Given the description of an element on the screen output the (x, y) to click on. 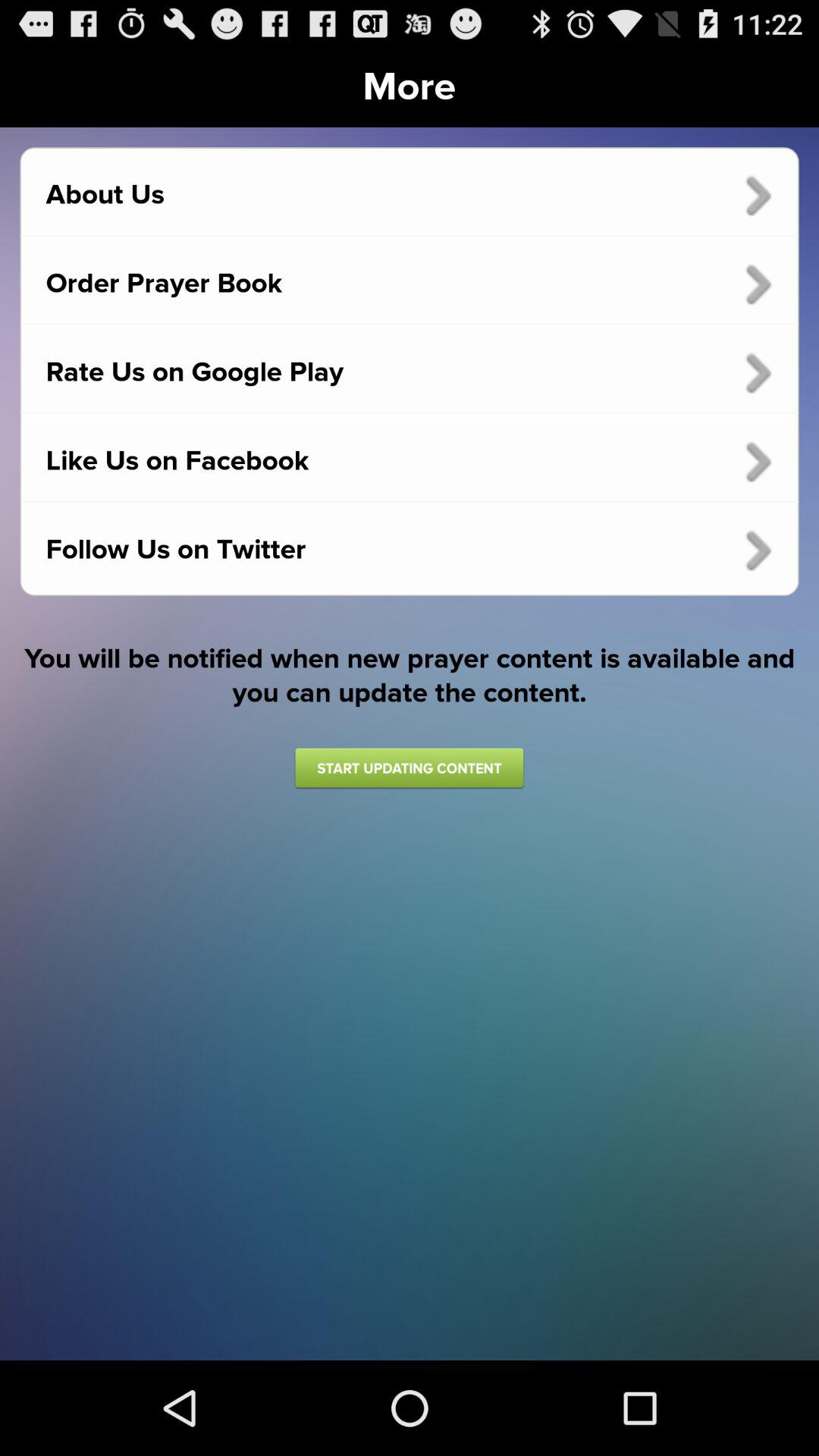
launch about us app (409, 195)
